Given the description of an element on the screen output the (x, y) to click on. 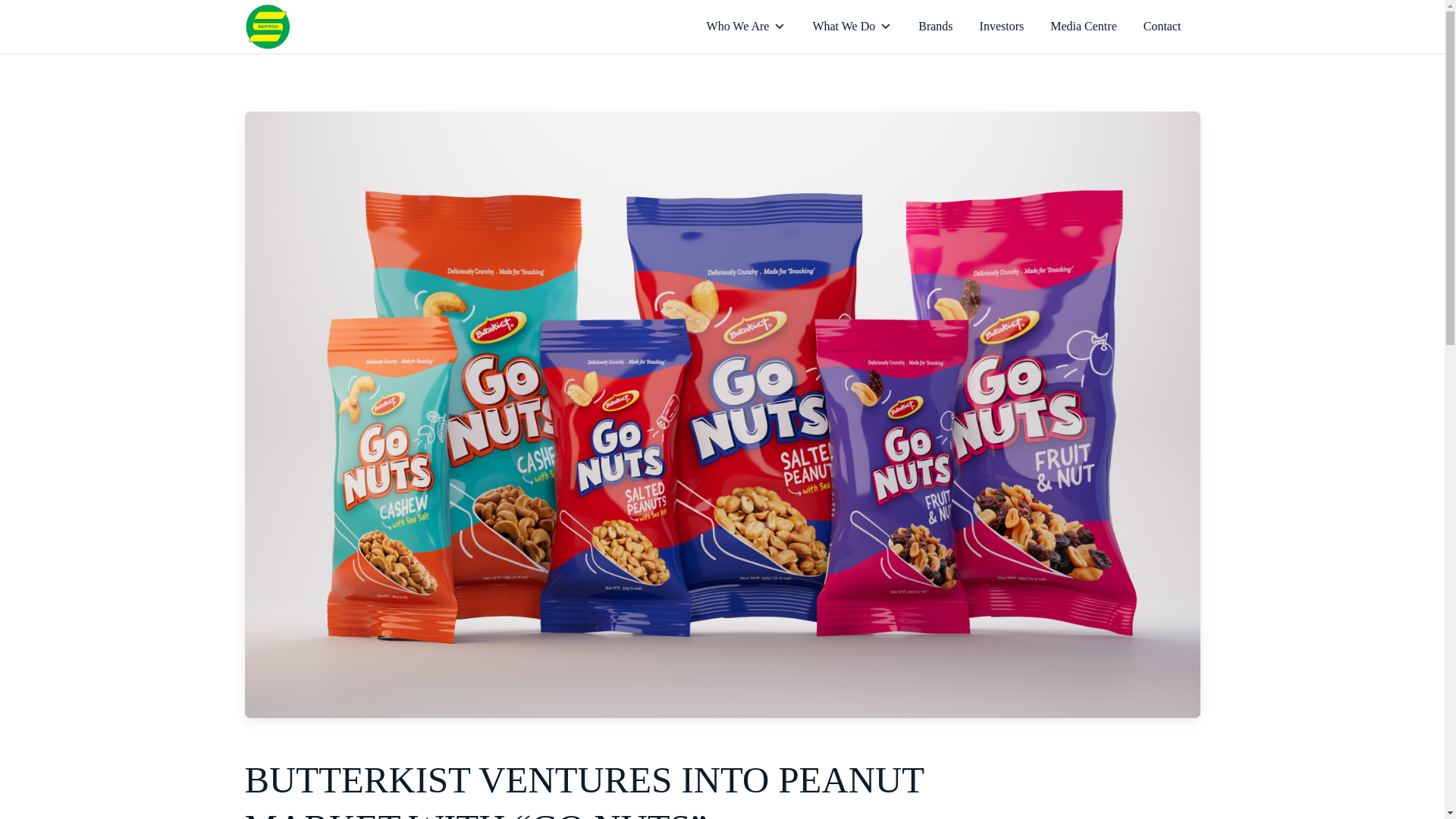
Who We Are (745, 26)
